Given the description of an element on the screen output the (x, y) to click on. 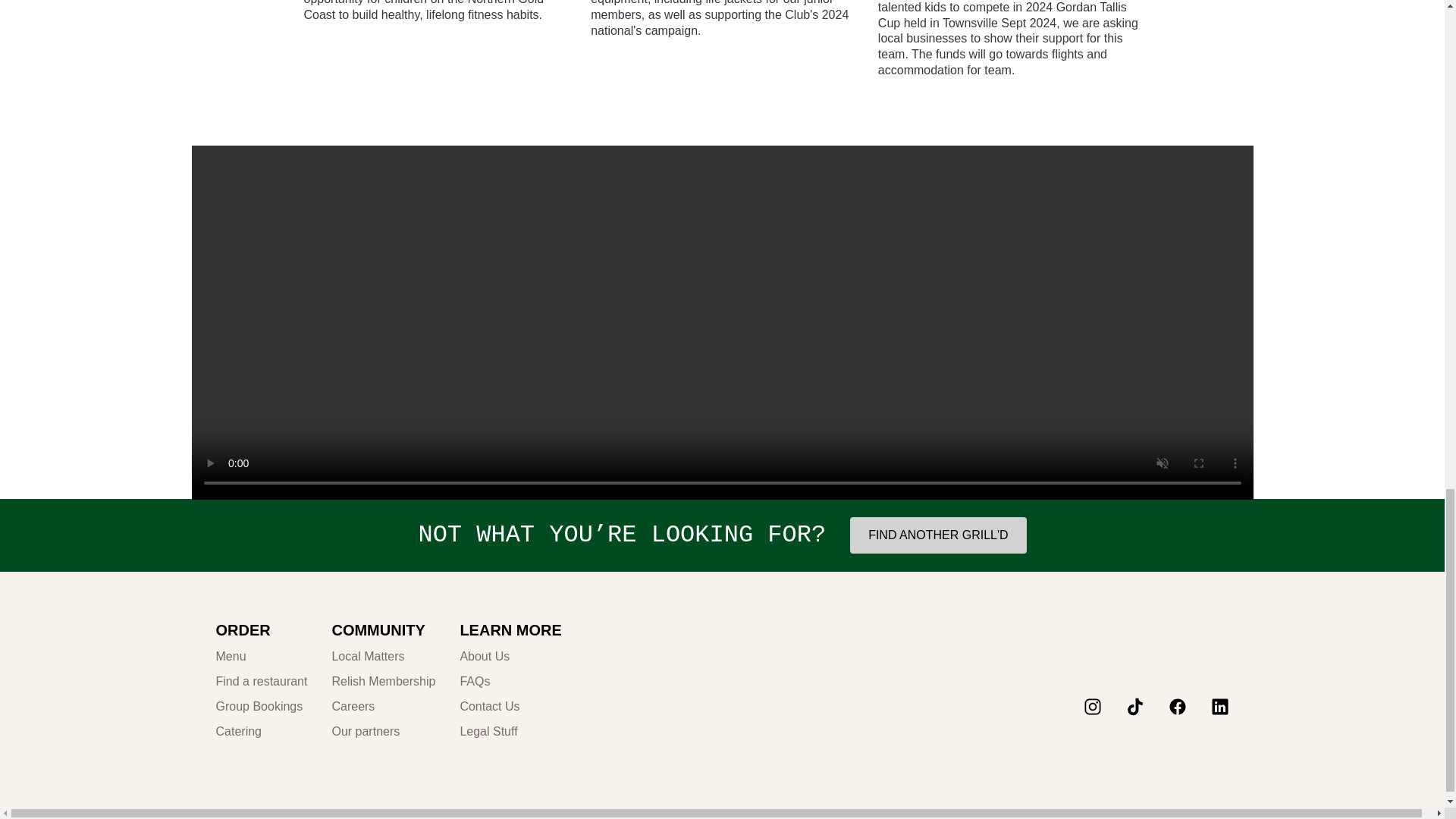
Find a restaurant (261, 682)
Local Matters (383, 657)
Relish Membership (383, 682)
Legal Stuff (510, 731)
Menu (261, 657)
About Us (510, 657)
Group Bookings (261, 706)
Our partners (383, 731)
Contact Us (510, 706)
FIND ANOTHER GRILL'D (938, 534)
Catering (261, 731)
FAQs (510, 682)
Careers (383, 706)
